Given the description of an element on the screen output the (x, y) to click on. 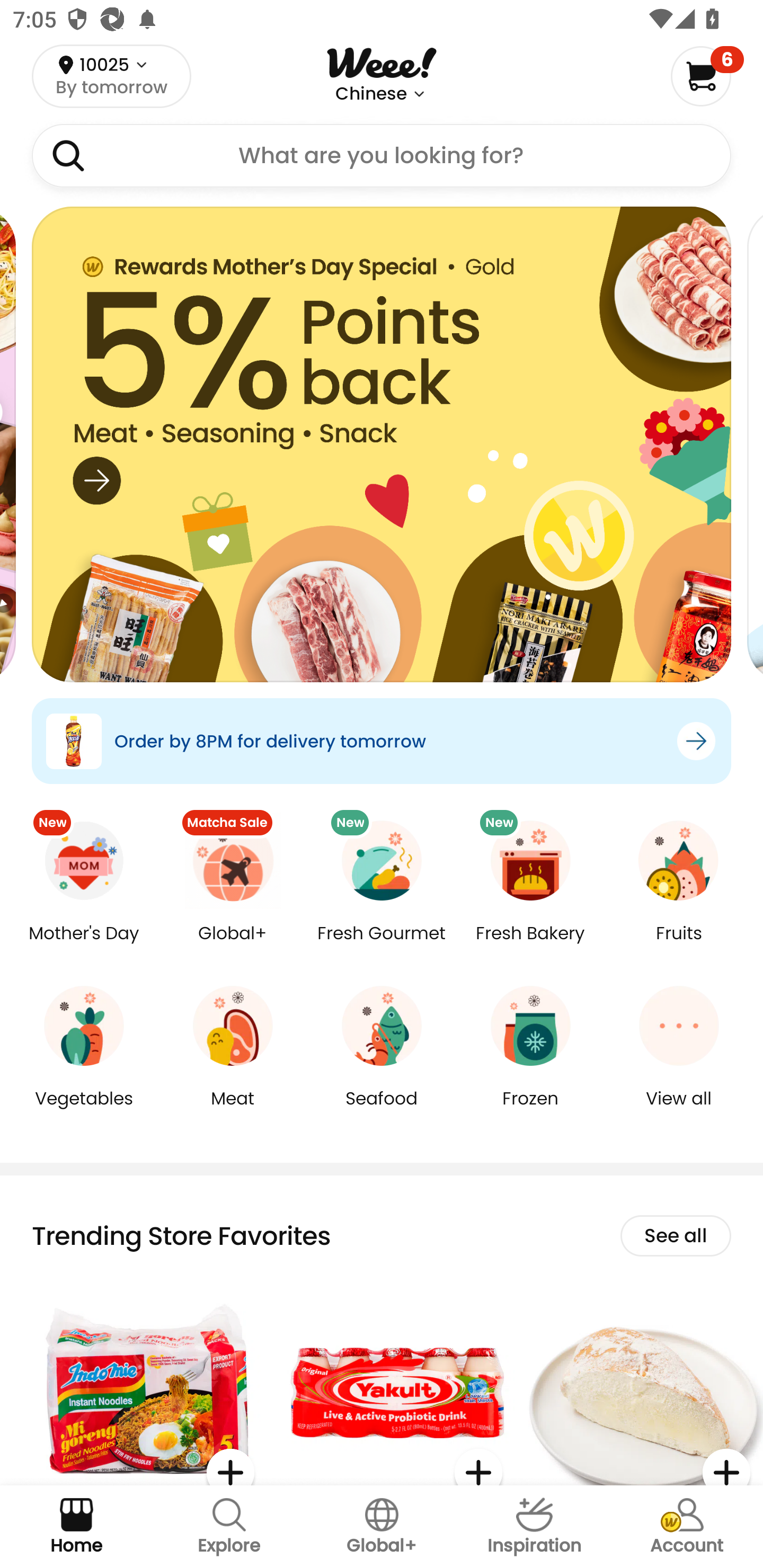
10025 By tomorrow (111, 75)
6 (706, 75)
Chinese (370, 93)
What are you looking for? (381, 155)
Order by 8PM for delivery tomorrow (381, 740)
Mother's Day (83, 946)
Global+ (232, 946)
Fresh Gourmet (381, 946)
Fresh Bakery (530, 946)
Fruits (678, 946)
Vegetables (83, 1111)
Meat (232, 1111)
Seafood (381, 1111)
Frozen (530, 1111)
View all (678, 1111)
Home (76, 1526)
Explore (228, 1526)
Global+ (381, 1526)
Inspiration (533, 1526)
Account (686, 1526)
